Given the description of an element on the screen output the (x, y) to click on. 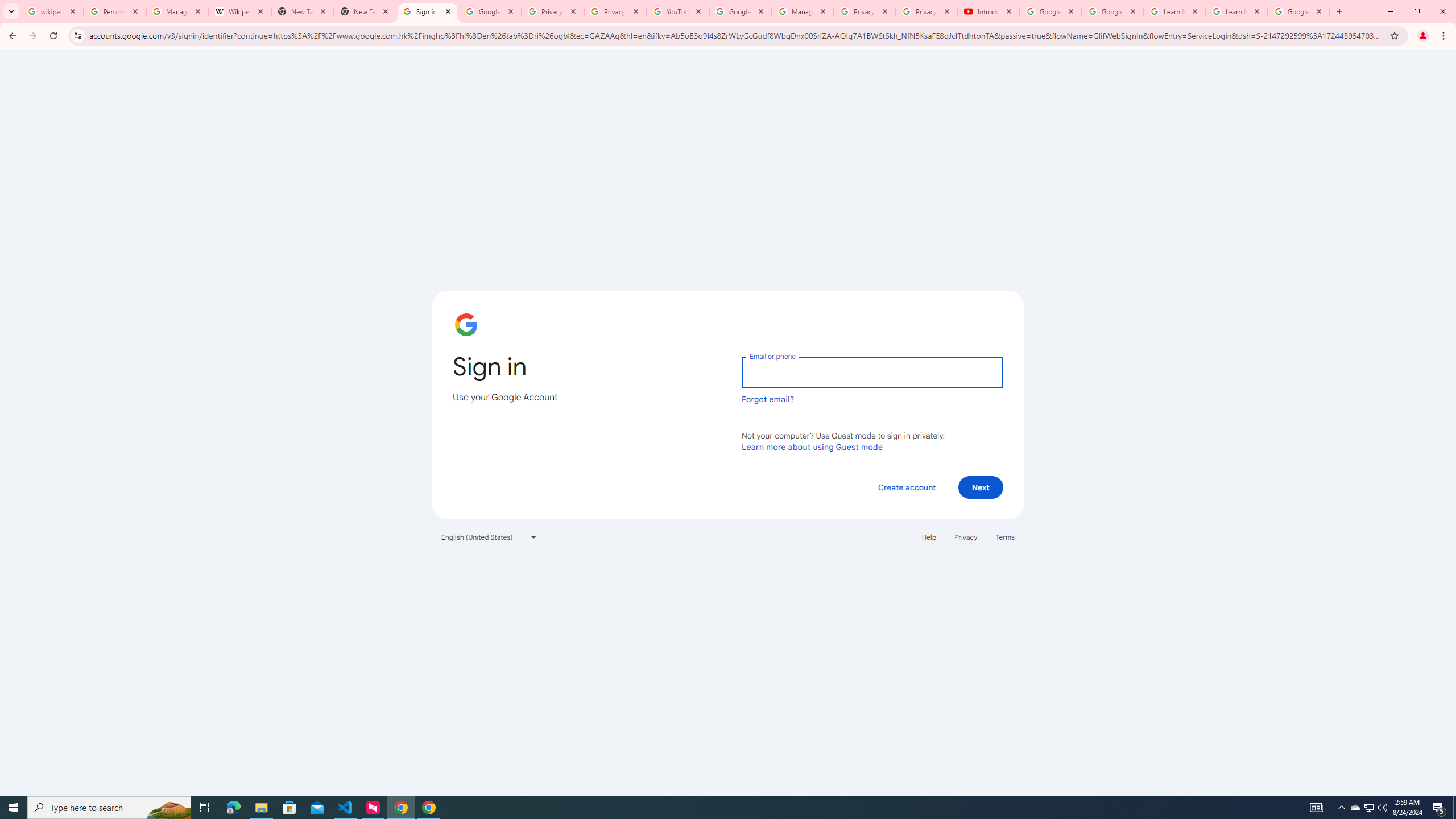
Wikipedia:Edit requests - Wikipedia (239, 11)
Forgot email? (767, 398)
